Given the description of an element on the screen output the (x, y) to click on. 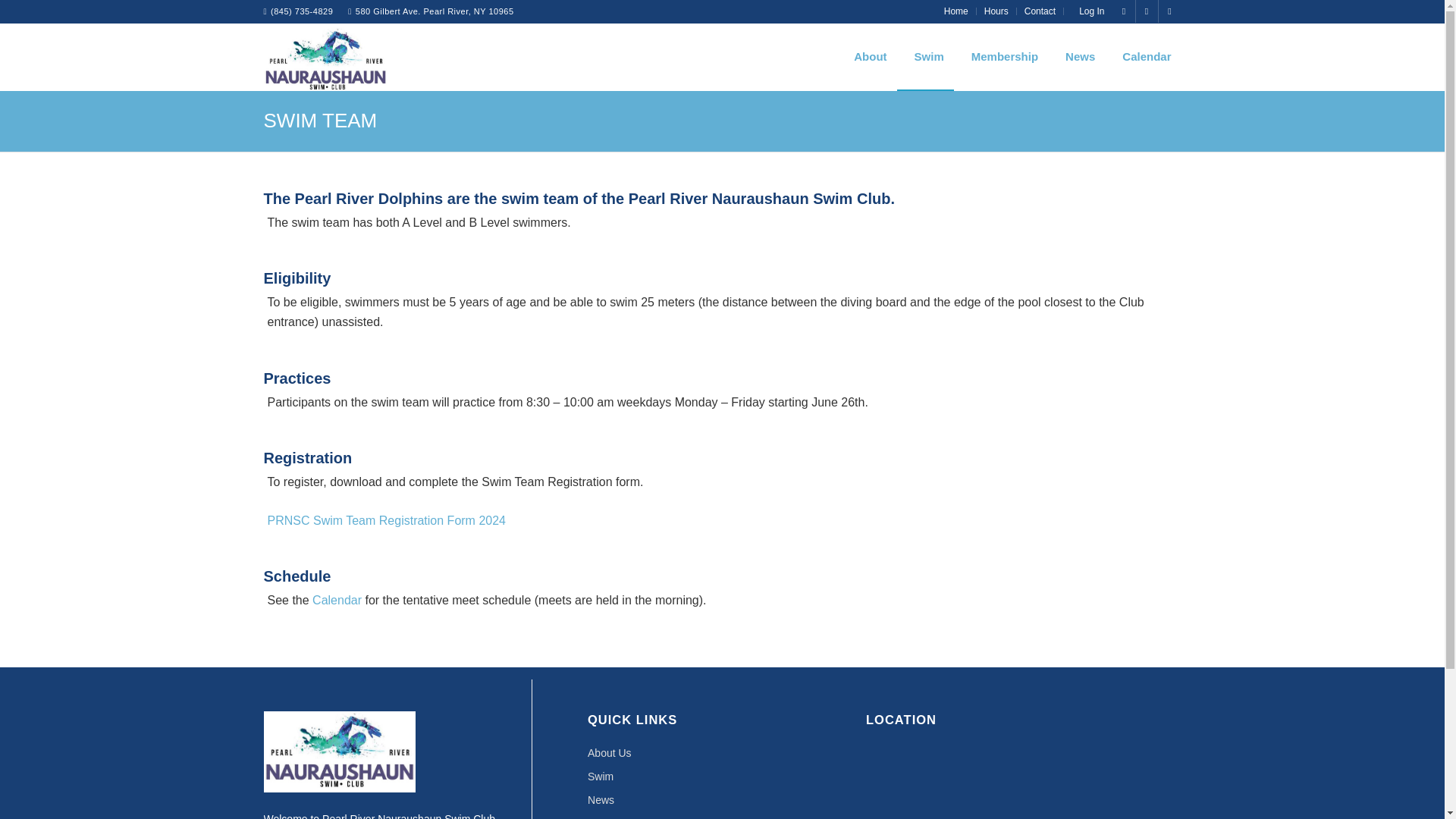
Permanent Link: Swim Team (320, 119)
Calendar (722, 815)
Hours (996, 11)
Membership (1000, 56)
Log In (1087, 11)
Instagram (1124, 11)
Calendar (1142, 56)
X (1169, 11)
About (865, 56)
Swim (722, 776)
